Given the description of an element on the screen output the (x, y) to click on. 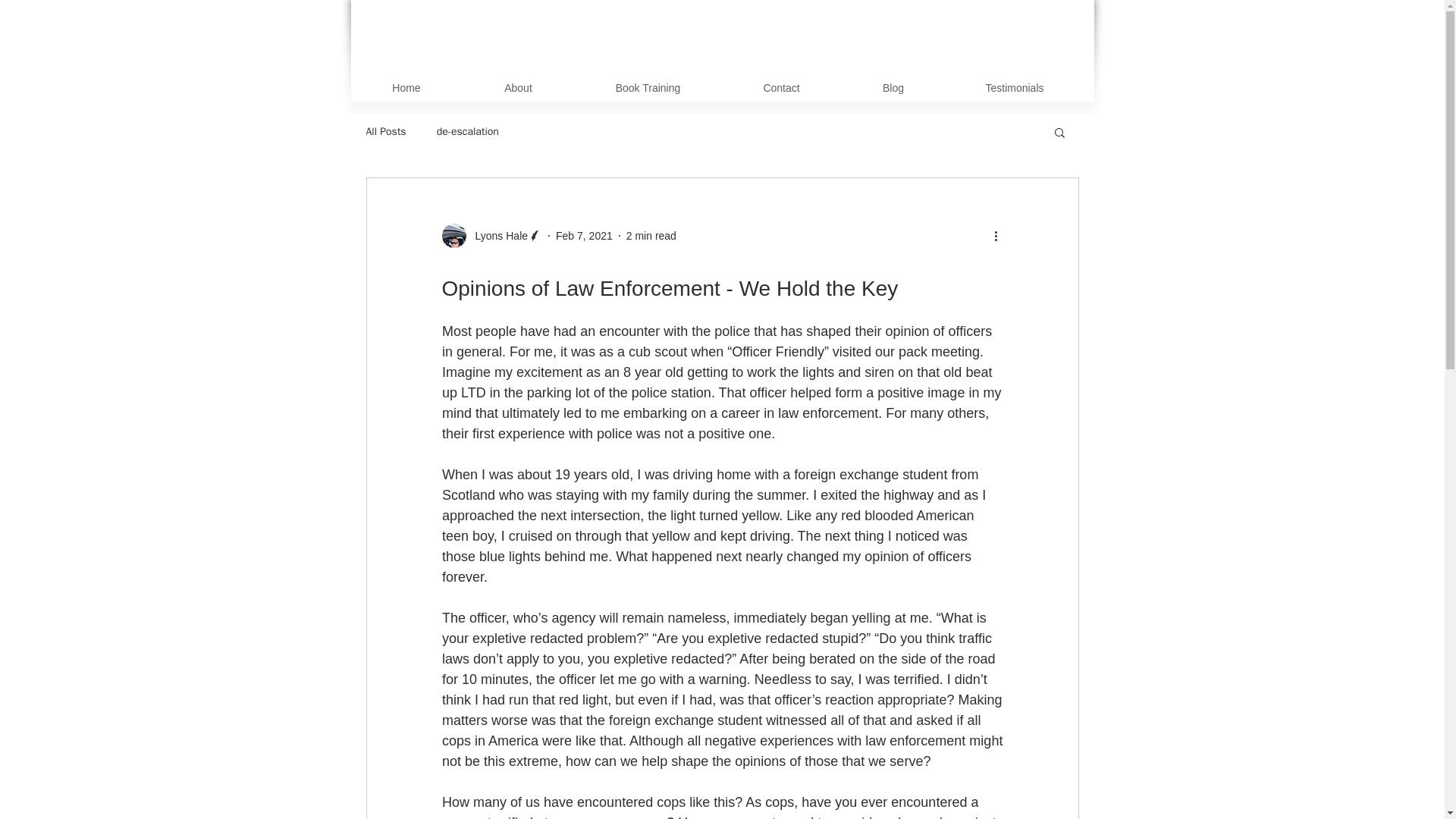
All Posts (385, 131)
Lyons Hale (496, 235)
About (519, 87)
Lyons Hale (491, 235)
Testimonials (1013, 87)
Blog (892, 87)
Home (405, 87)
Feb 7, 2021 (584, 234)
Book Training (648, 87)
2 min read (651, 234)
